Given the description of an element on the screen output the (x, y) to click on. 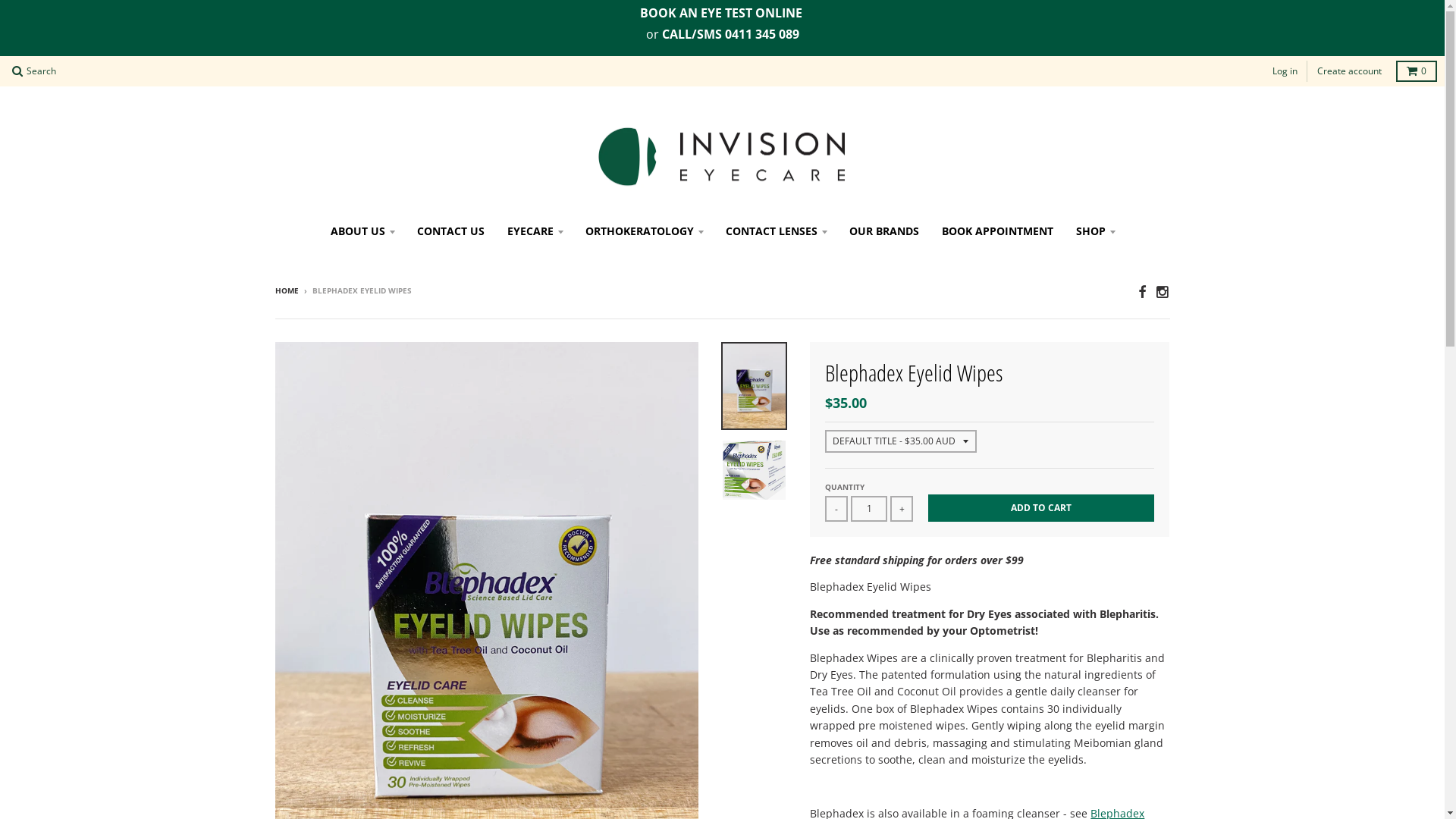
Invision Eyecare on Facebook Element type: hover (1141, 291)
Create account Element type: text (1349, 70)
CONTACT US Element type: text (449, 230)
Invision Eyecare on Instagram Element type: hover (1162, 291)
- Element type: text (836, 508)
ORTHOKERATOLOGY Element type: text (643, 230)
Log in Element type: text (1284, 70)
SHOP Element type: text (1095, 230)
BOOK APPOINTMENT Element type: text (996, 230)
HOME Element type: text (286, 290)
ABOUT US Element type: text (361, 230)
ADD TO CART Element type: text (1041, 507)
Search Element type: text (33, 70)
EYECARE Element type: text (534, 230)
OUR BRANDS Element type: text (883, 230)
CONTACT LENSES Element type: text (775, 230)
CALL/SMS 0411 345 089 Element type: text (729, 34)
0 Element type: text (1416, 70)
+ Element type: text (901, 508)
BOOK AN EYE TEST ONLINE Element type: text (721, 13)
